Given the description of an element on the screen output the (x, y) to click on. 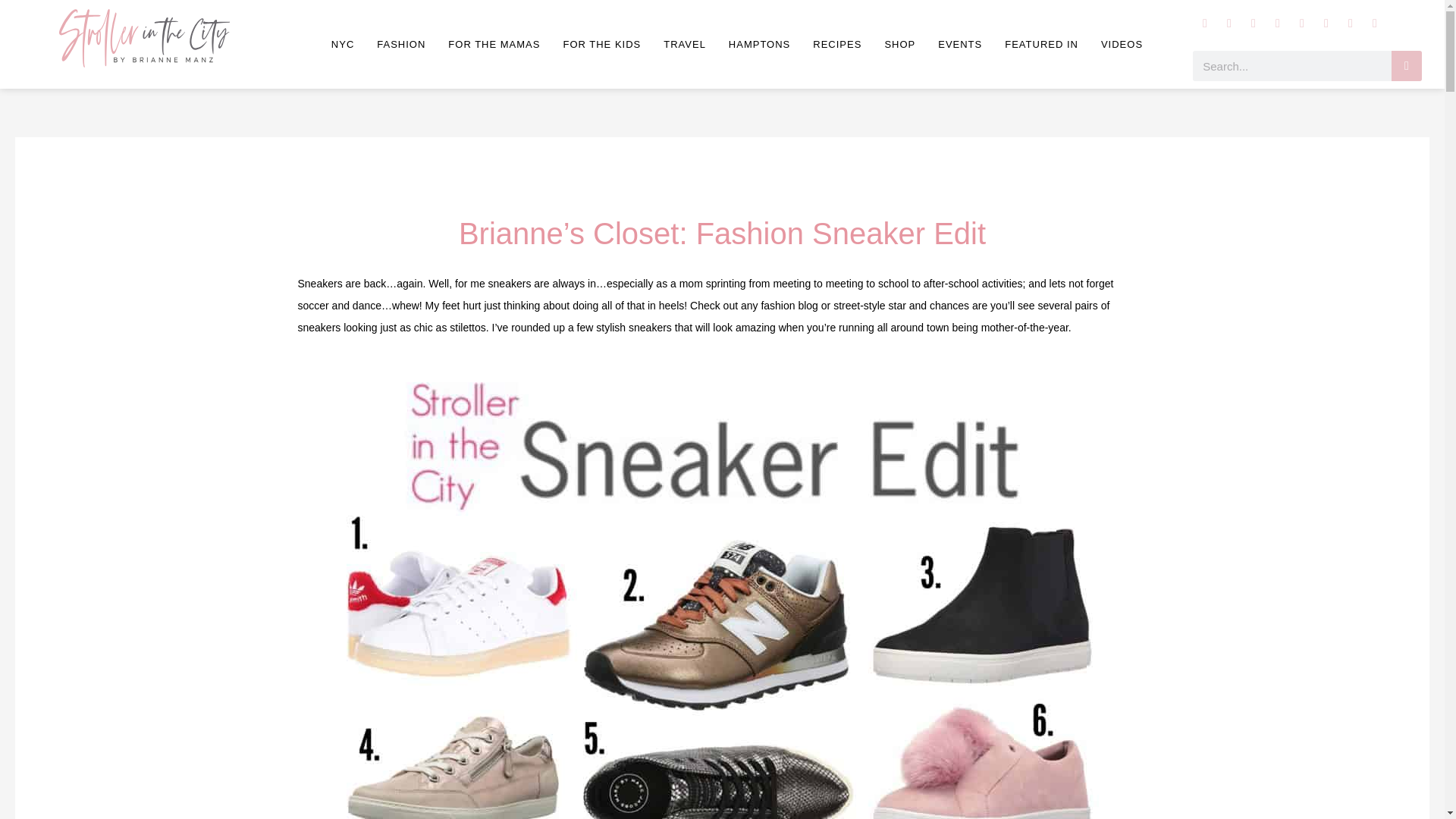
SHOP (899, 44)
Instagram (1204, 23)
HAMPTONS (759, 44)
Rss (1374, 23)
Youtube (1277, 23)
Search (1406, 65)
FASHION (401, 44)
Amazon (1350, 23)
EVENTS (959, 44)
Pinterest (1302, 23)
Icon-tiktok (1326, 23)
RECIPES (836, 44)
FOR THE KIDS (601, 44)
TRAVEL (684, 44)
VIDEOS (1121, 44)
